Given the description of an element on the screen output the (x, y) to click on. 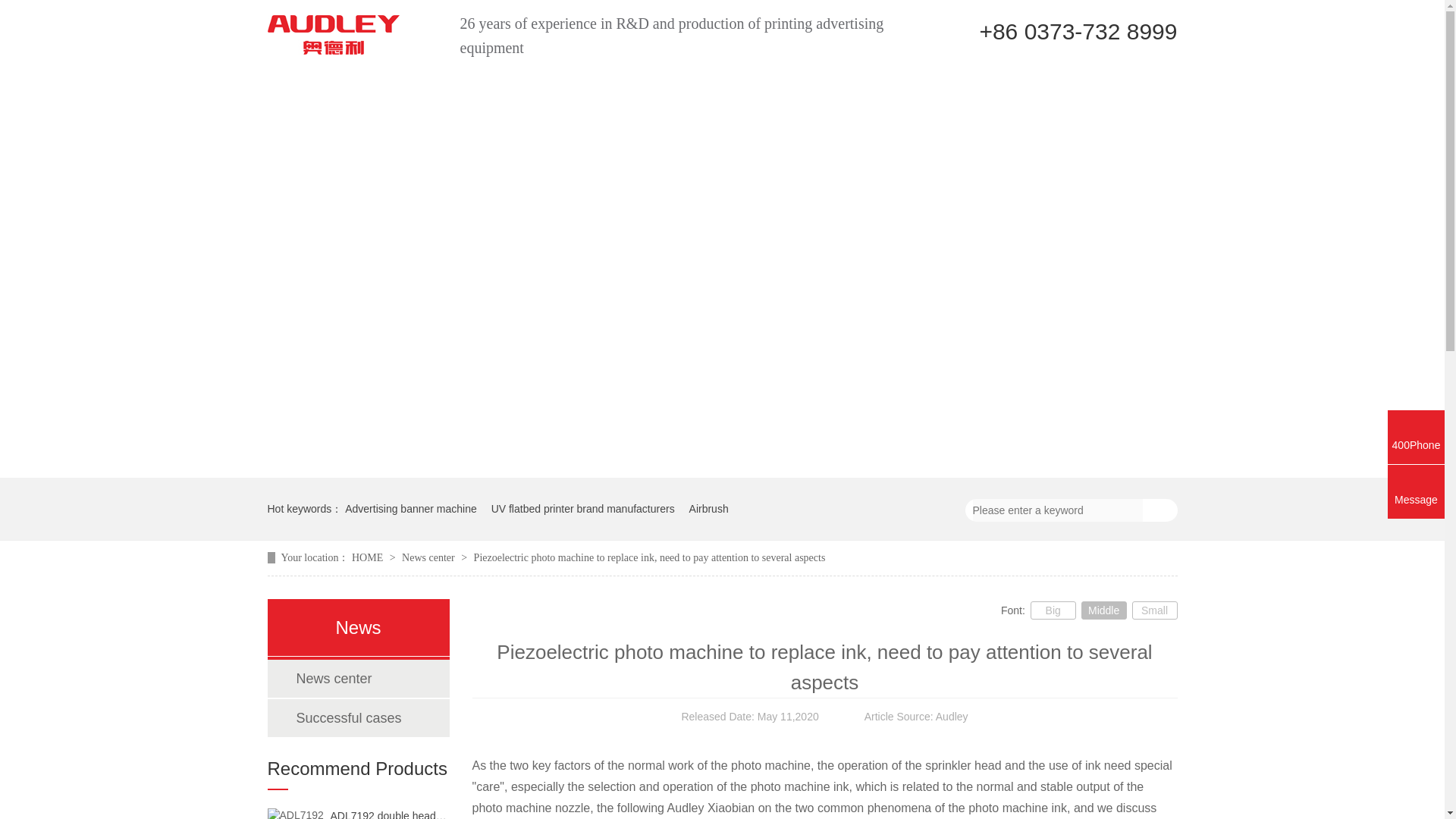
Advertising banner machine (411, 508)
Successful cases (357, 718)
UV DTF Printer and UV Printer (678, 81)
News (868, 81)
Contacts (1037, 81)
Henan Yindu Digital Co.,Ltd (332, 34)
Eco Solvent Printer (433, 81)
Big (1052, 610)
UV DTF Printer and UV Printer (678, 81)
Download (919, 81)
